Given the description of an element on the screen output the (x, y) to click on. 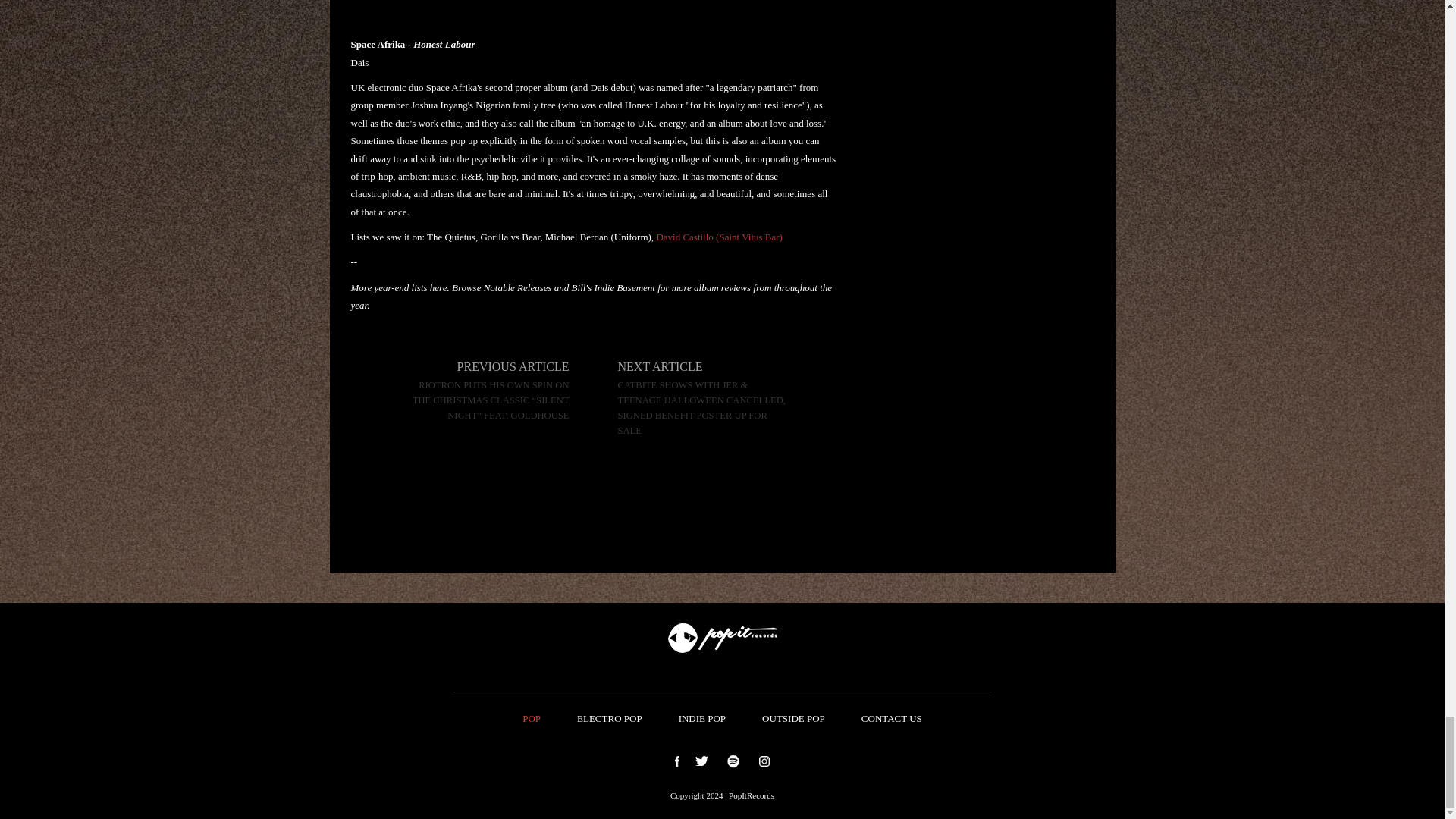
INDIE POP (702, 718)
CONTACT US (891, 718)
OUTSIDE POP (793, 718)
ELECTRO POP (610, 718)
POP (531, 718)
